Given the description of an element on the screen output the (x, y) to click on. 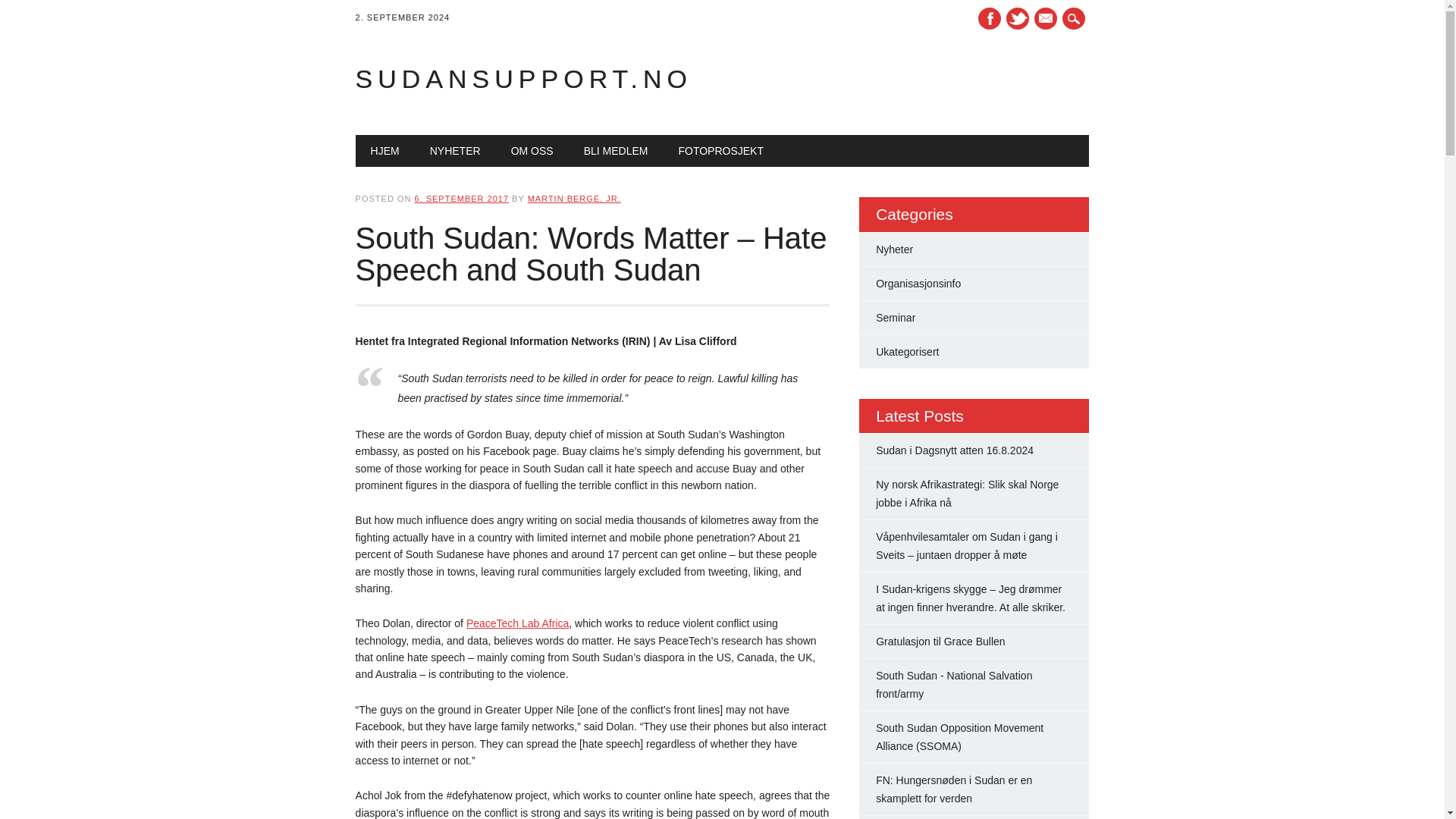
Gratulasjon til Grace Bullen (940, 641)
Twitter (1017, 18)
Sudan i Dagsnytt atten 16.8.2024 (954, 450)
Look Gratulasjon til Grace Bullen (940, 641)
NYHETER (455, 151)
12:01 (460, 198)
Look Sudan i Dagsnytt atten 16.8.2024 (954, 450)
PeaceTech Lab Africa (517, 623)
Sudansupport.no (524, 78)
Ukategorisert (907, 351)
